Given the description of an element on the screen output the (x, y) to click on. 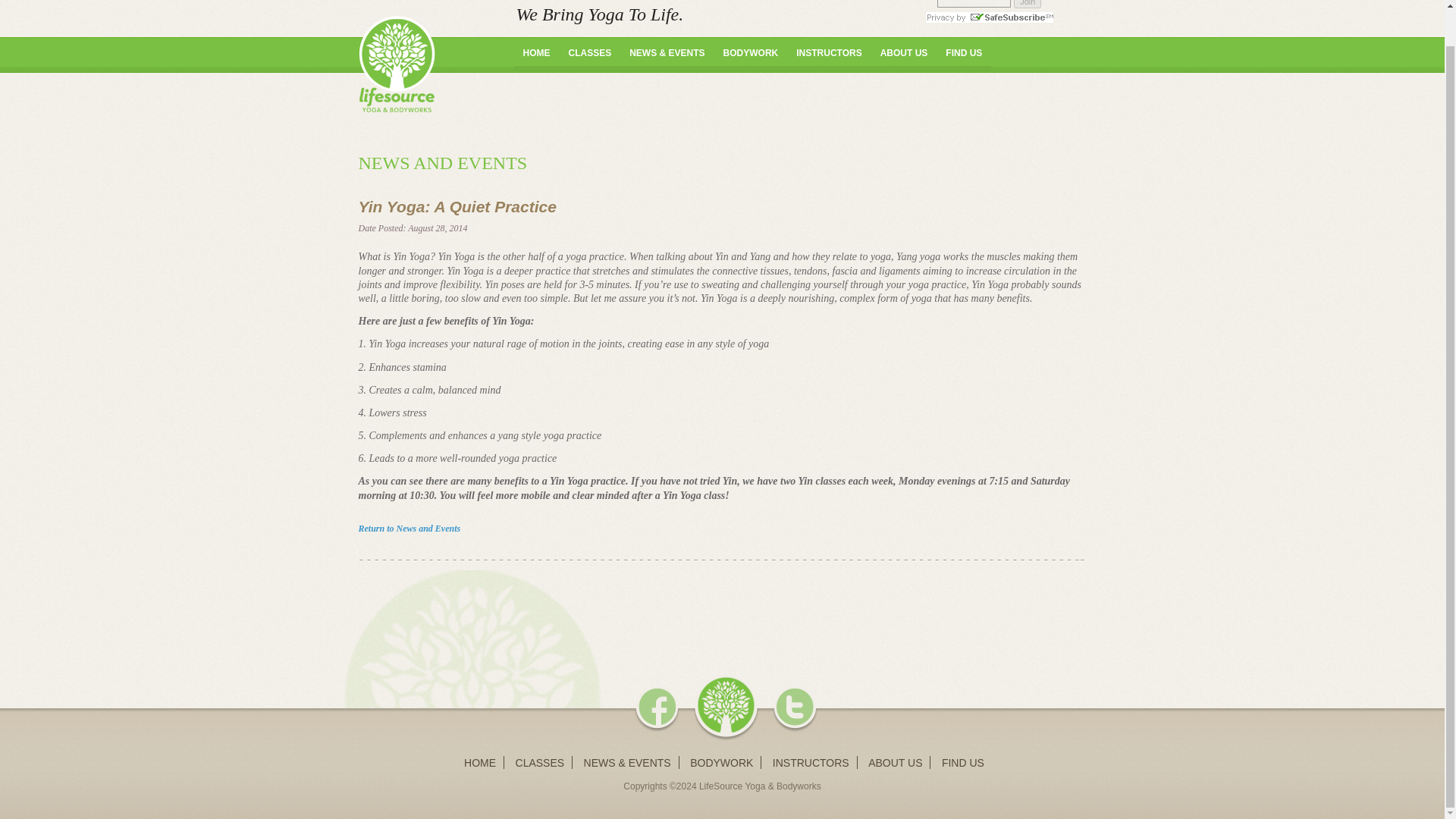
BODYWORK (721, 762)
HOME (480, 762)
INSTRUCTORS (828, 59)
BODYWORK (750, 59)
ABOUT US (903, 59)
CLASSES (539, 762)
Return to News and Events (409, 528)
FIND US (963, 59)
FIND US (963, 762)
NEWS AND EVENTS (442, 162)
